Given the description of an element on the screen output the (x, y) to click on. 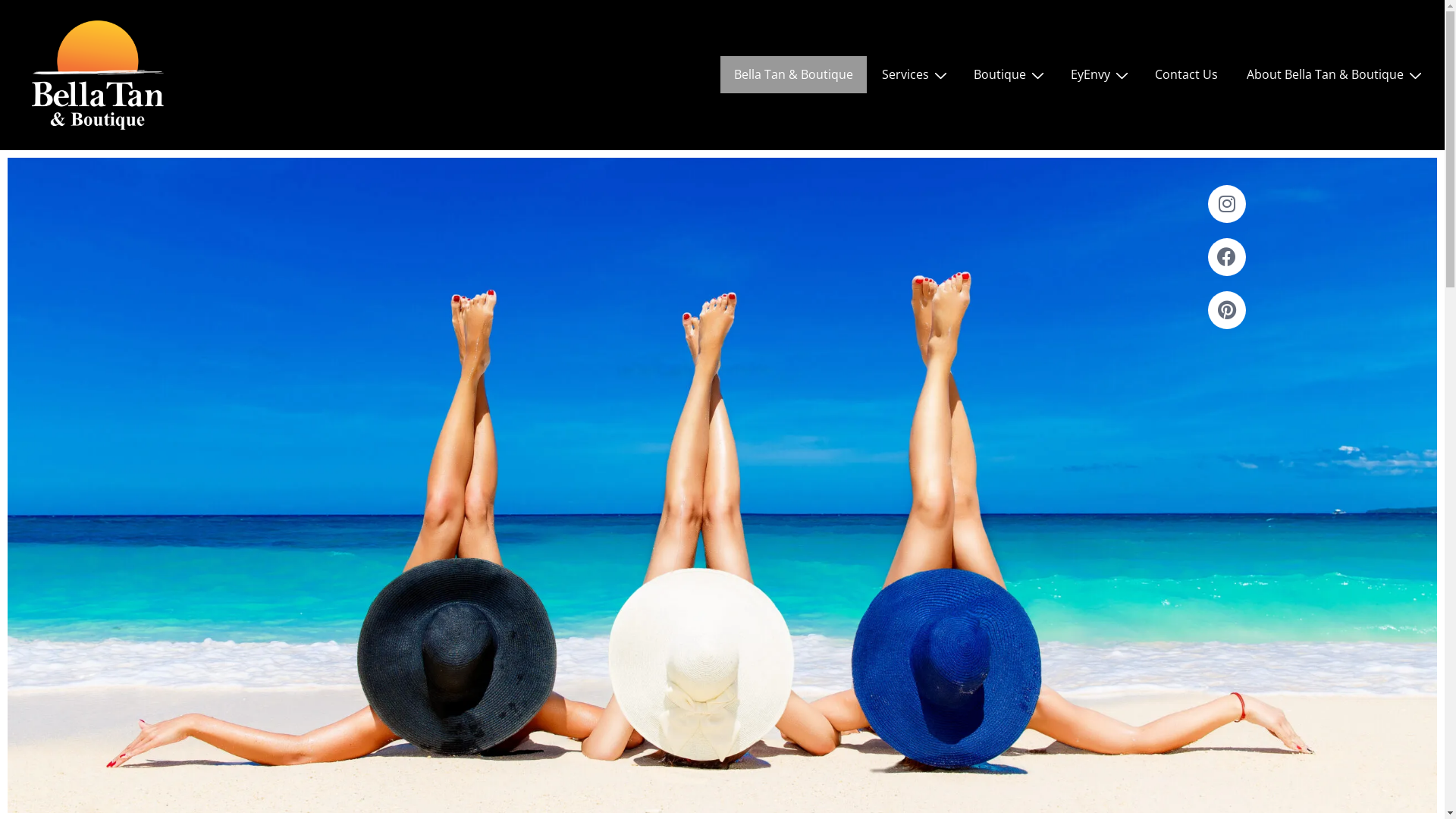
Contact Us Element type: text (1186, 74)
EyEnvy Element type: text (1098, 74)
Services Element type: text (913, 74)
Bella Tan & Boutique Element type: text (793, 74)
About Bella Tan & Boutique Element type: text (1333, 74)
Boutique Element type: text (1007, 74)
